Given the description of an element on the screen output the (x, y) to click on. 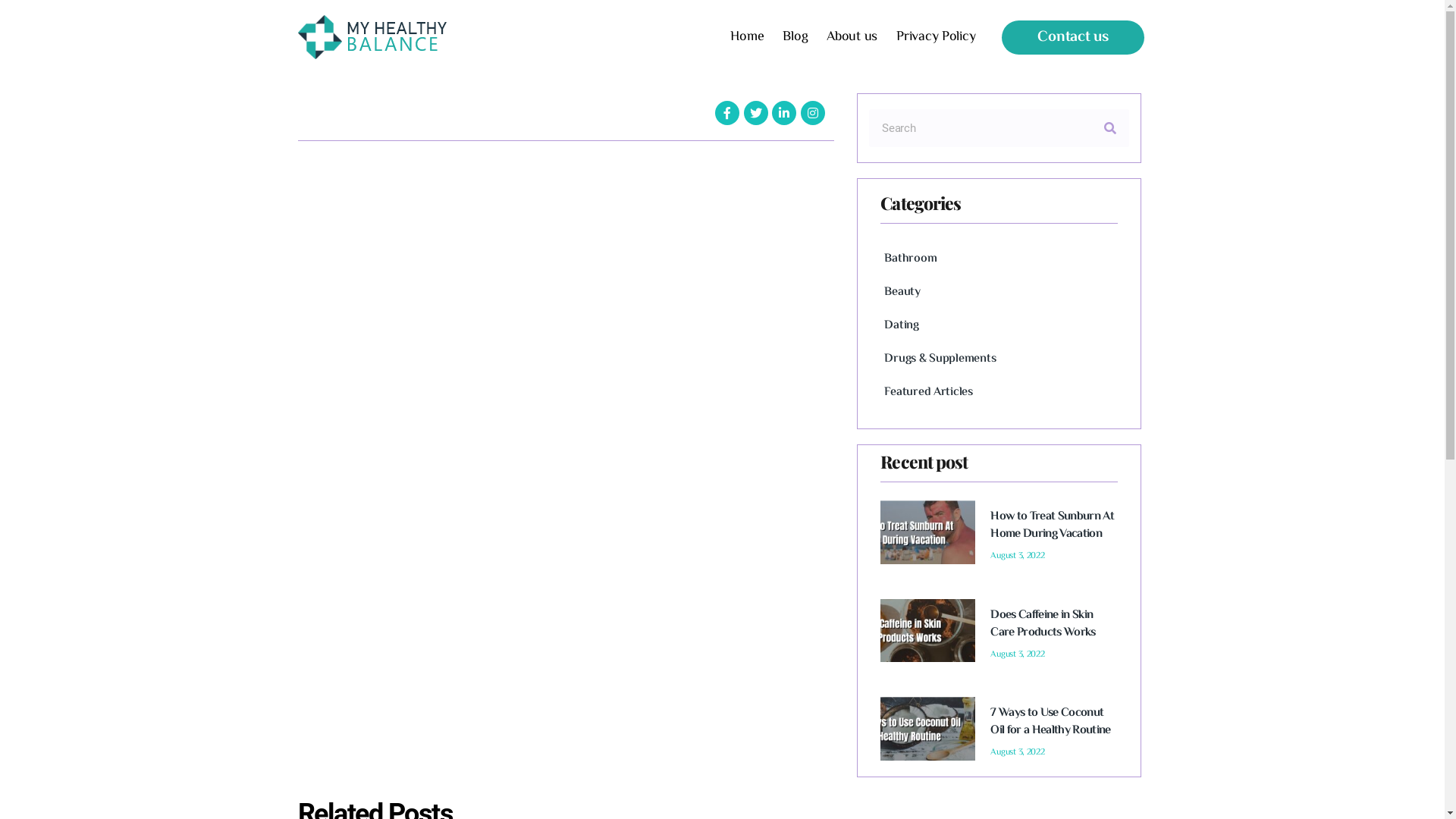
Featured Articles Element type: text (998, 388)
How to Treat Sunburn At Home During Vacation Element type: text (1051, 525)
Search Element type: hover (979, 128)
Beauty Element type: text (998, 288)
Drugs & Supplements Element type: text (998, 355)
Contact us Element type: text (1072, 36)
7 Ways to Use Coconut Oil for a Healthy Routine Element type: text (1050, 721)
Privacy Policy Element type: text (935, 37)
Blog Element type: text (795, 37)
About us Element type: text (851, 37)
Dating Element type: text (998, 321)
Bathroom Element type: text (998, 254)
Does Caffeine in Skin Care Products Works Element type: text (1042, 623)
Home Element type: text (746, 37)
Search Element type: hover (1110, 128)
